Given the description of an element on the screen output the (x, y) to click on. 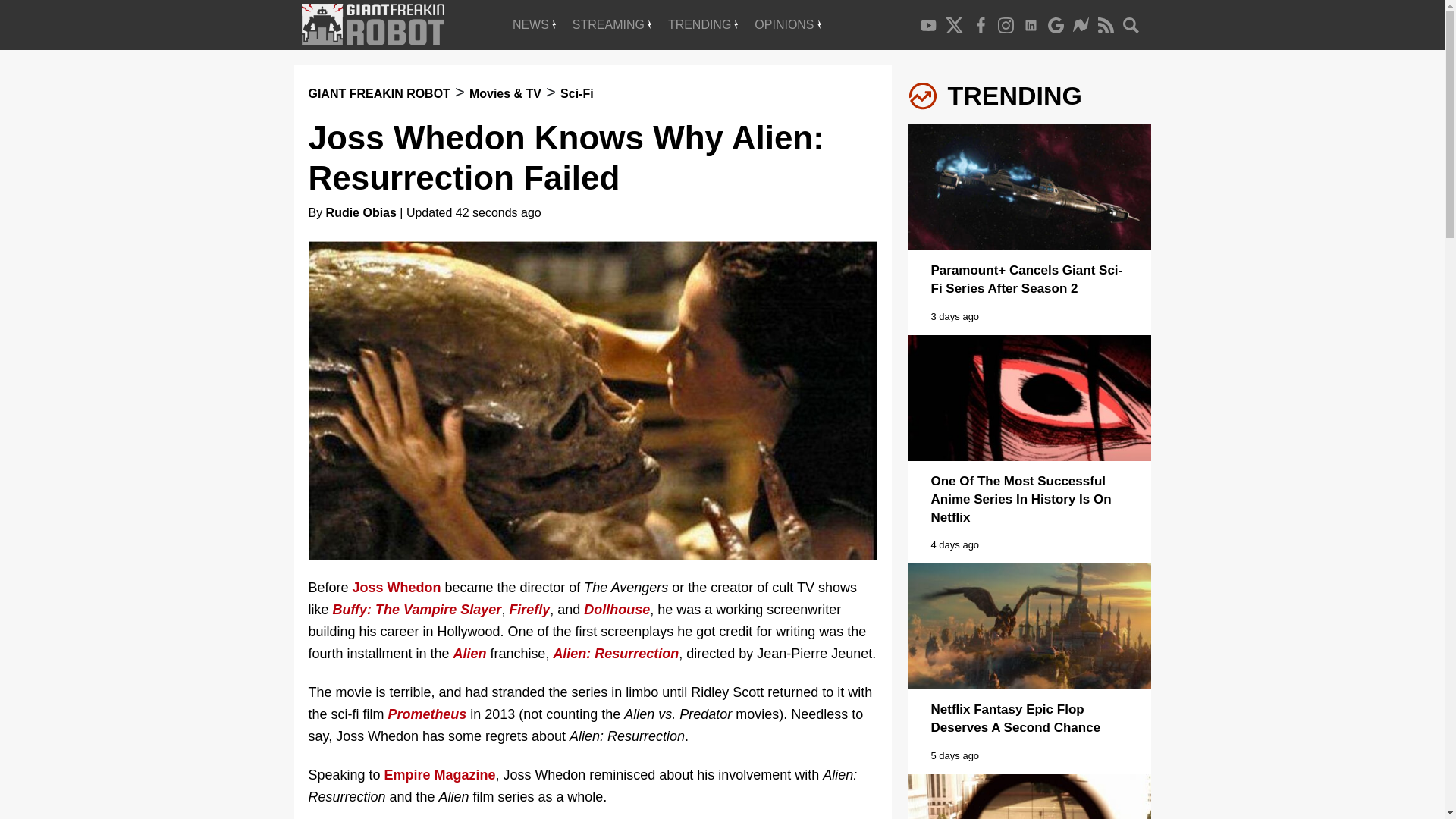
Sci-Fi (577, 92)
OPINIONS (786, 24)
STREAMING (611, 24)
Entertainment News (533, 24)
GIANT FREAKIN ROBOT (378, 92)
NEWS (533, 24)
Joss Whedon Knows Why Alien: Resurrection Failed (565, 157)
Streaming (611, 24)
TRENDING (702, 24)
Rudie Obias (361, 212)
Trending (702, 24)
